Given the description of an element on the screen output the (x, y) to click on. 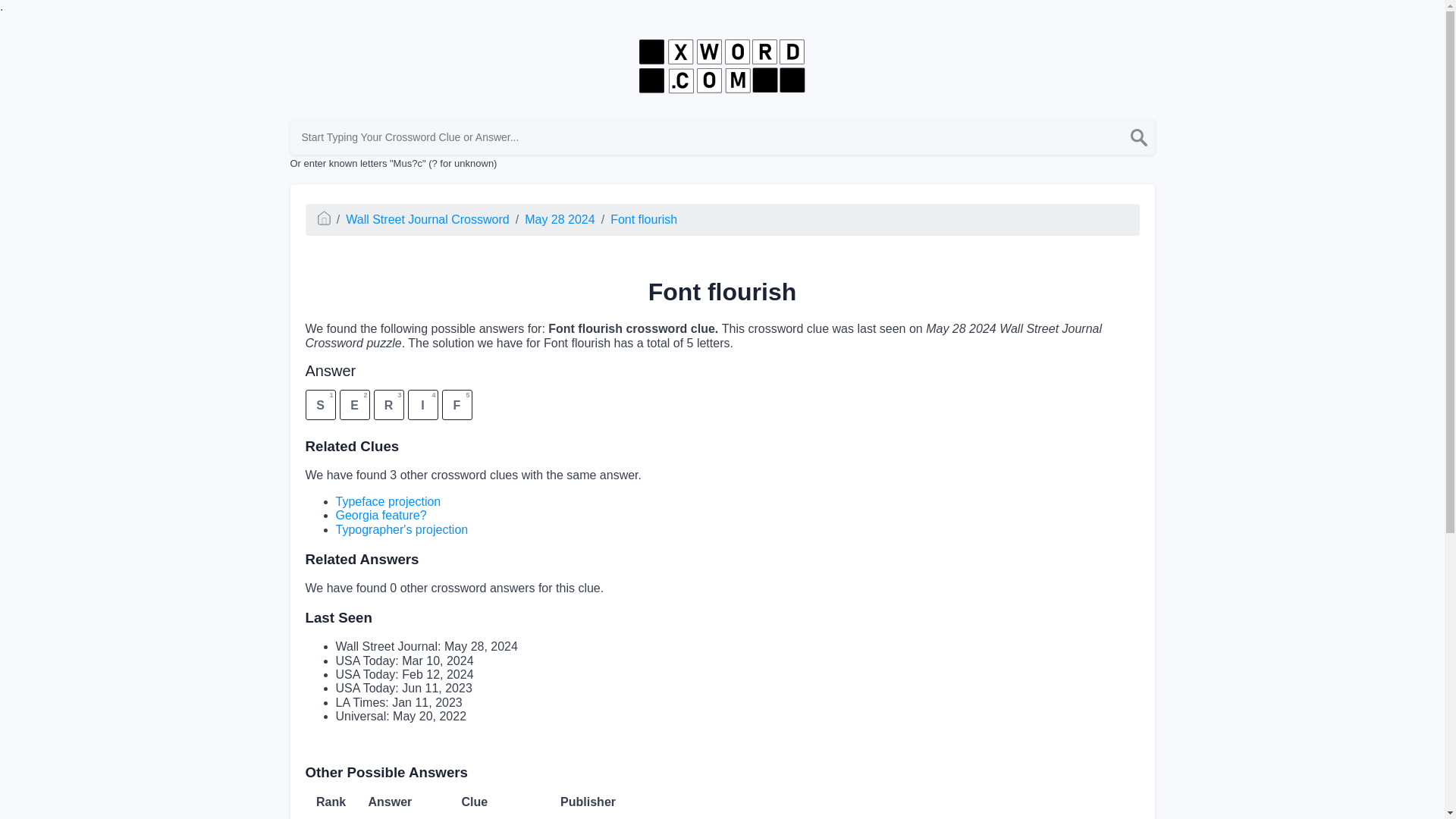
Font flourish (643, 219)
Georgia feature? (380, 514)
Typeface projection (387, 501)
Wall Street Journal Crossword (721, 406)
Typographer's projection (427, 219)
May 28 2024 (400, 529)
